Given the description of an element on the screen output the (x, y) to click on. 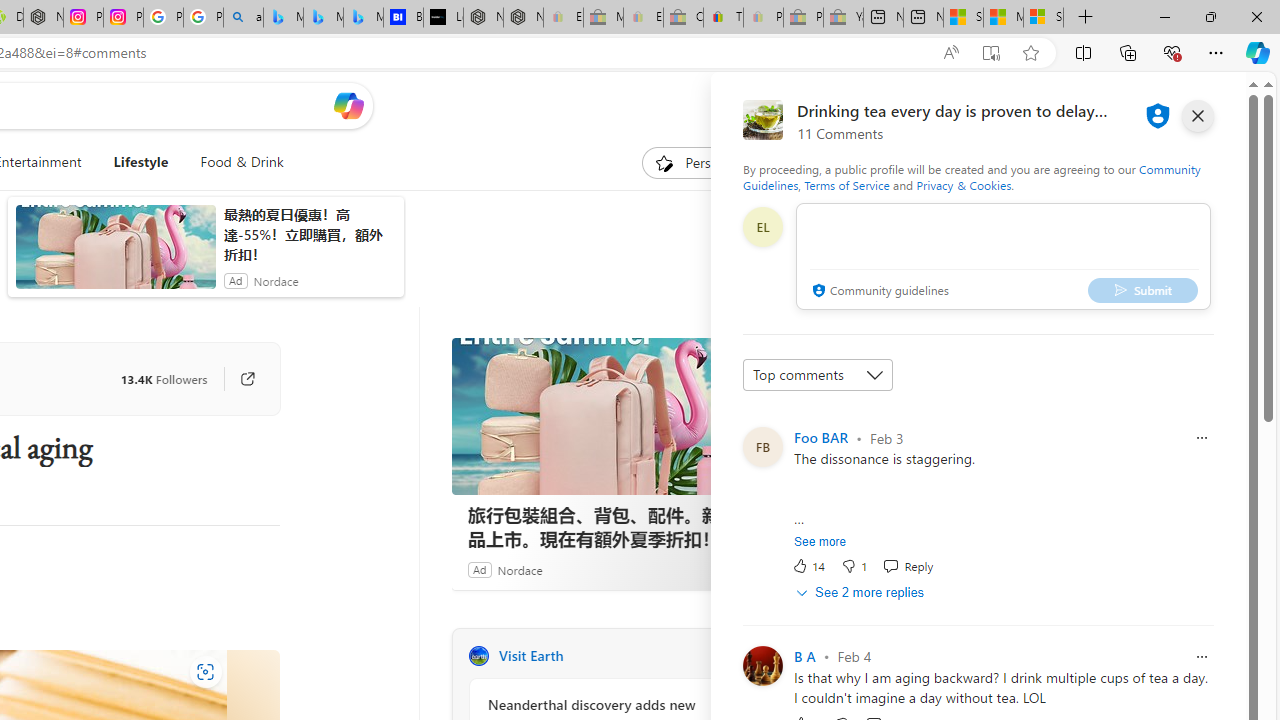
Yard, Garden & Outdoor Living - Sleeping (843, 17)
Microsoft Bing Travel - Flights from Hong Kong to Bangkok (283, 17)
Sort comments by (817, 374)
Microsoft rewards (1137, 105)
Sign in to your Microsoft account (1043, 17)
Nordace (519, 569)
Open Copilot (347, 105)
Close (1256, 16)
Privacy & Cookies (964, 184)
See more (820, 541)
anim-content (115, 255)
Add this page to favorites (Ctrl+D) (1030, 53)
